Given the description of an element on the screen output the (x, y) to click on. 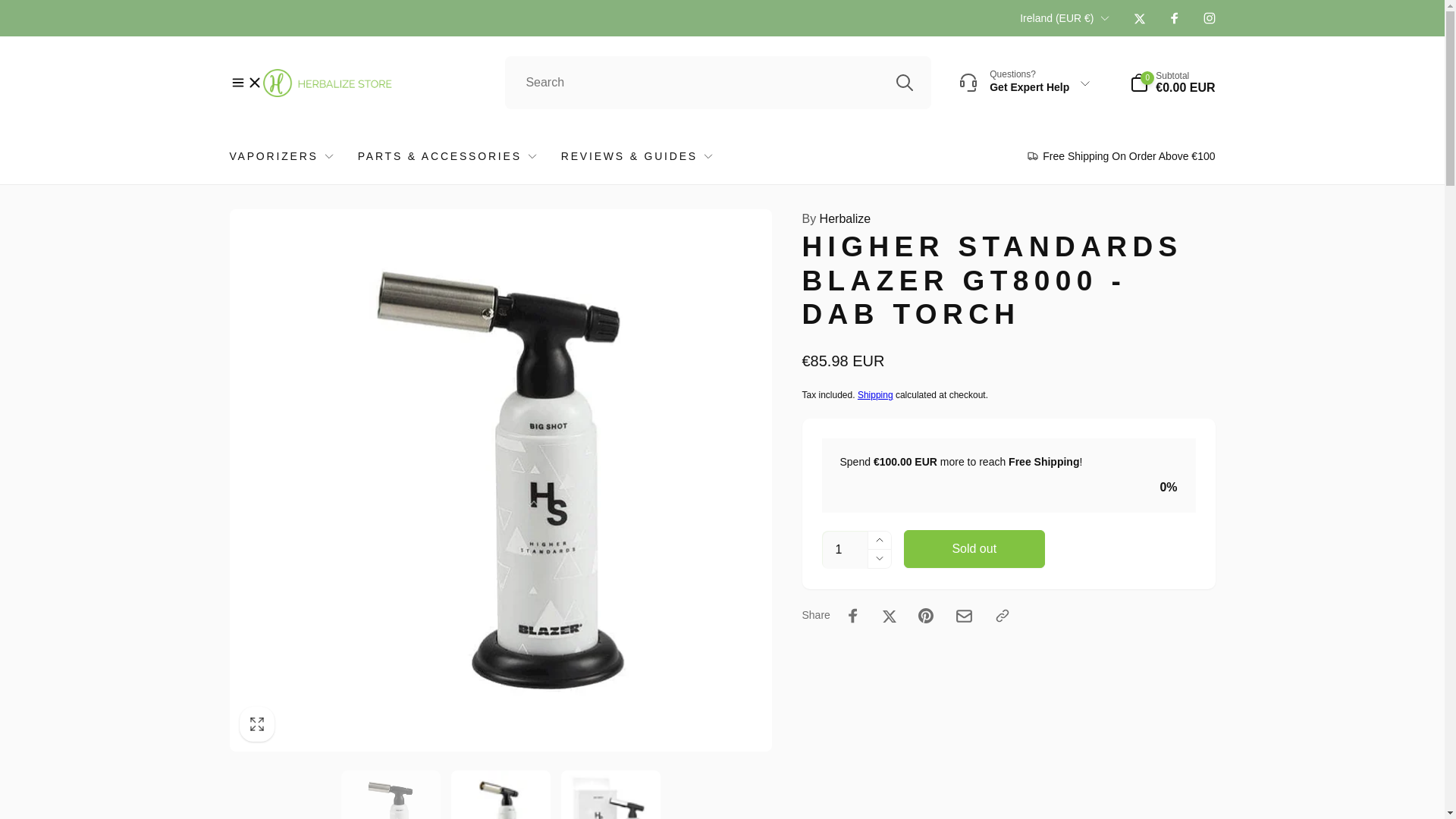
Skip to content (16, 8)
Instagram (1208, 18)
Facebook (1173, 18)
Twitter (1138, 18)
1 (844, 549)
